Given the description of an element on the screen output the (x, y) to click on. 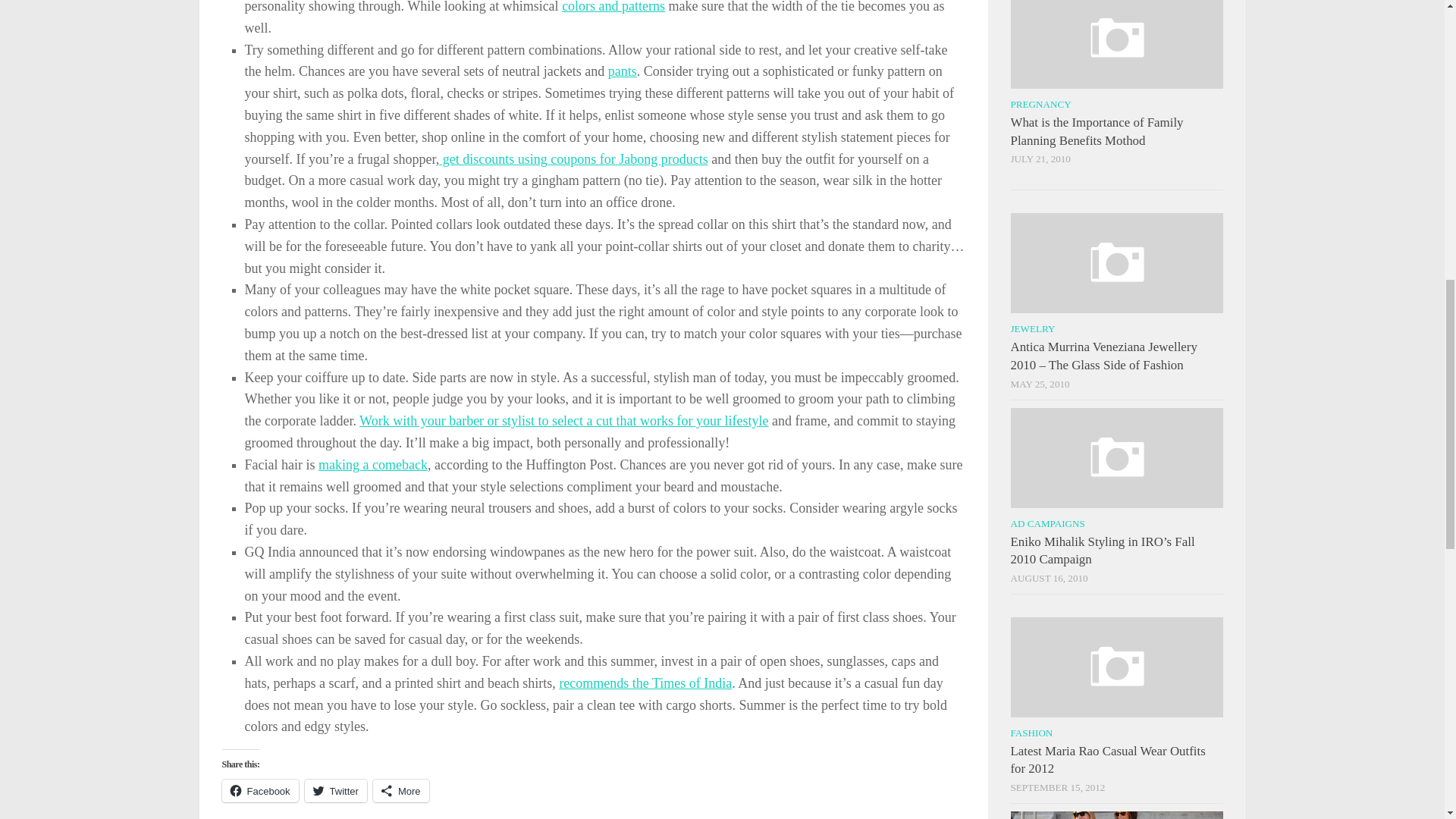
making a comeback (373, 464)
get discounts using coupons for Jabong products (573, 159)
Click to share on Facebook (259, 790)
Twitter (335, 790)
More (400, 790)
Facebook (259, 790)
pants (622, 70)
recommends the Times of India (645, 683)
colors and patterns (613, 6)
